Given the description of an element on the screen output the (x, y) to click on. 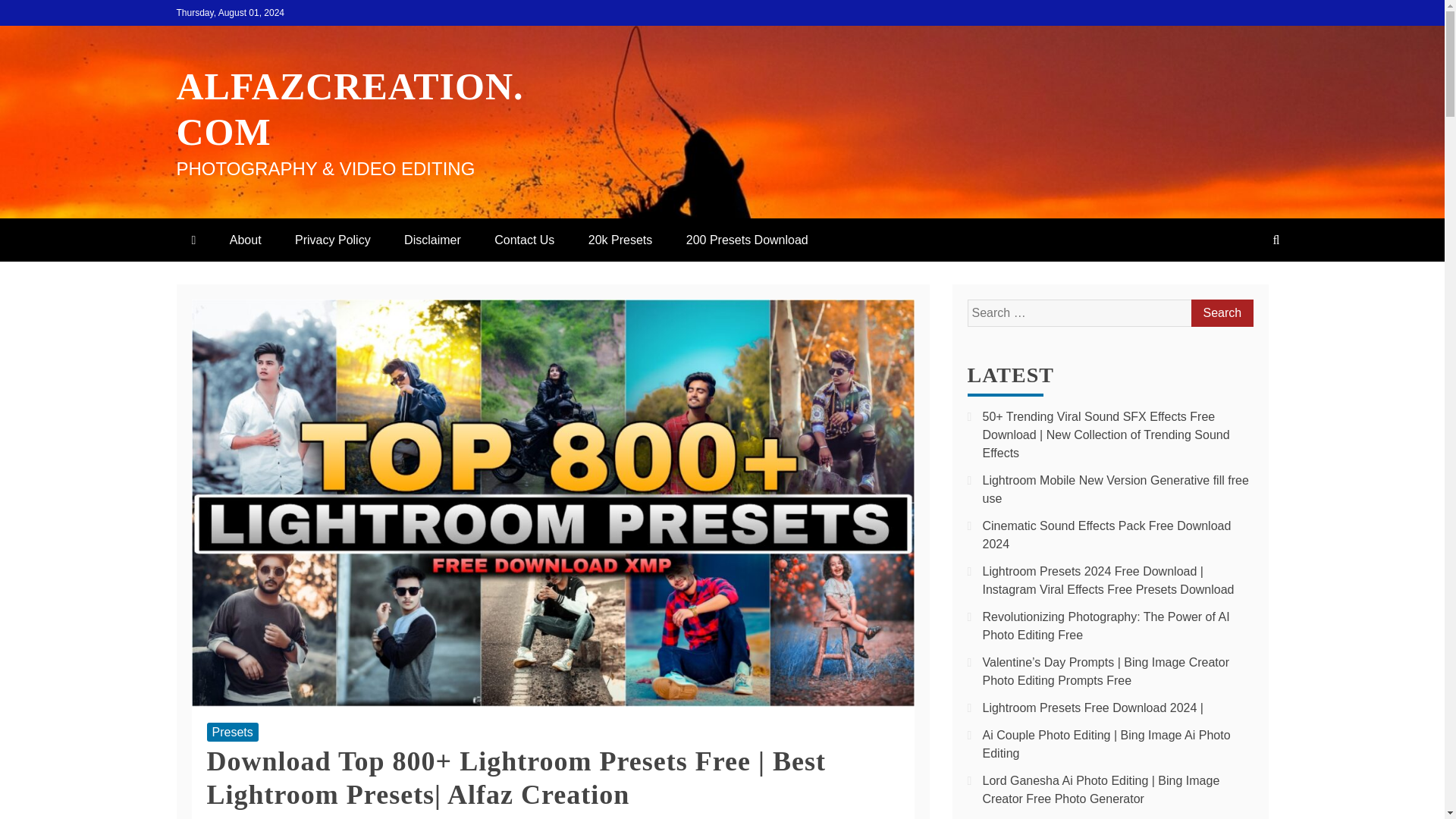
Search (1221, 312)
ALFAZCREATION.COM (349, 109)
Disclaimer (432, 239)
20k Presets (619, 239)
Contact Us (524, 239)
Privacy Policy (332, 239)
Search (1221, 312)
Presets (231, 732)
About (245, 239)
200 Presets Download (747, 239)
Search (1221, 312)
